Given the description of an element on the screen output the (x, y) to click on. 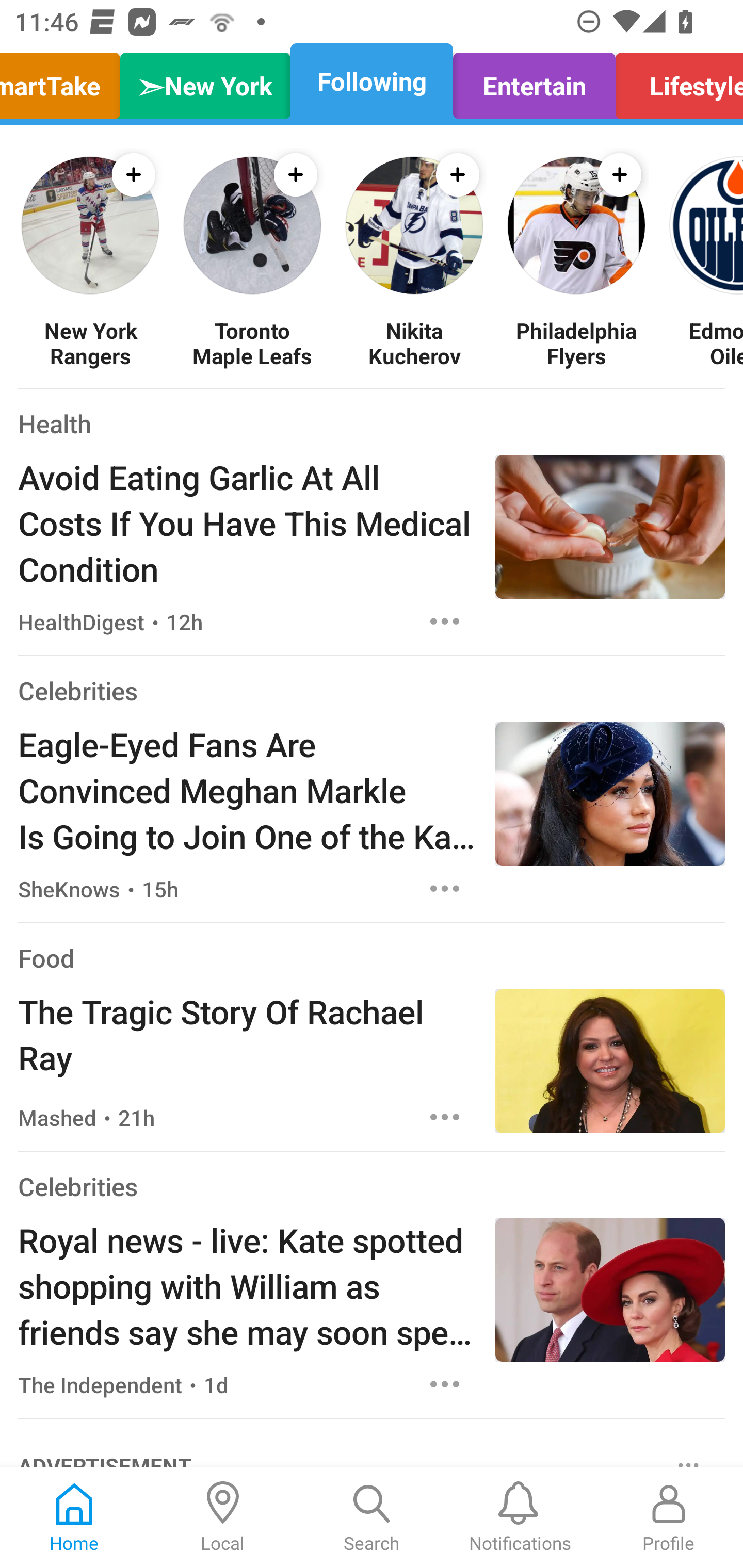
➣New York (205, 81)
Following (371, 81)
Entertain (534, 81)
New York Rangers (89, 342)
Toronto Maple Leafs (251, 342)
Nikita Kucherov (413, 342)
Philadelphia Flyers (575, 342)
Health (54, 423)
Options (444, 621)
Celebrities (77, 690)
Options (444, 889)
Food (46, 957)
Options (444, 1117)
Celebrities (77, 1185)
Options (444, 1384)
Local (222, 1517)
Search (371, 1517)
Notifications (519, 1517)
Profile (668, 1517)
